Given the description of an element on the screen output the (x, y) to click on. 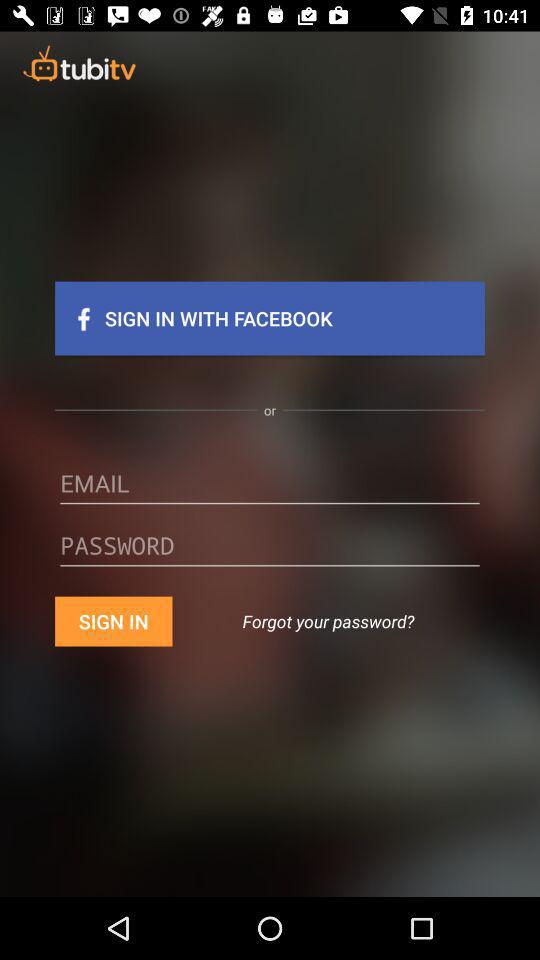
type in email address (269, 489)
